Given the description of an element on the screen output the (x, y) to click on. 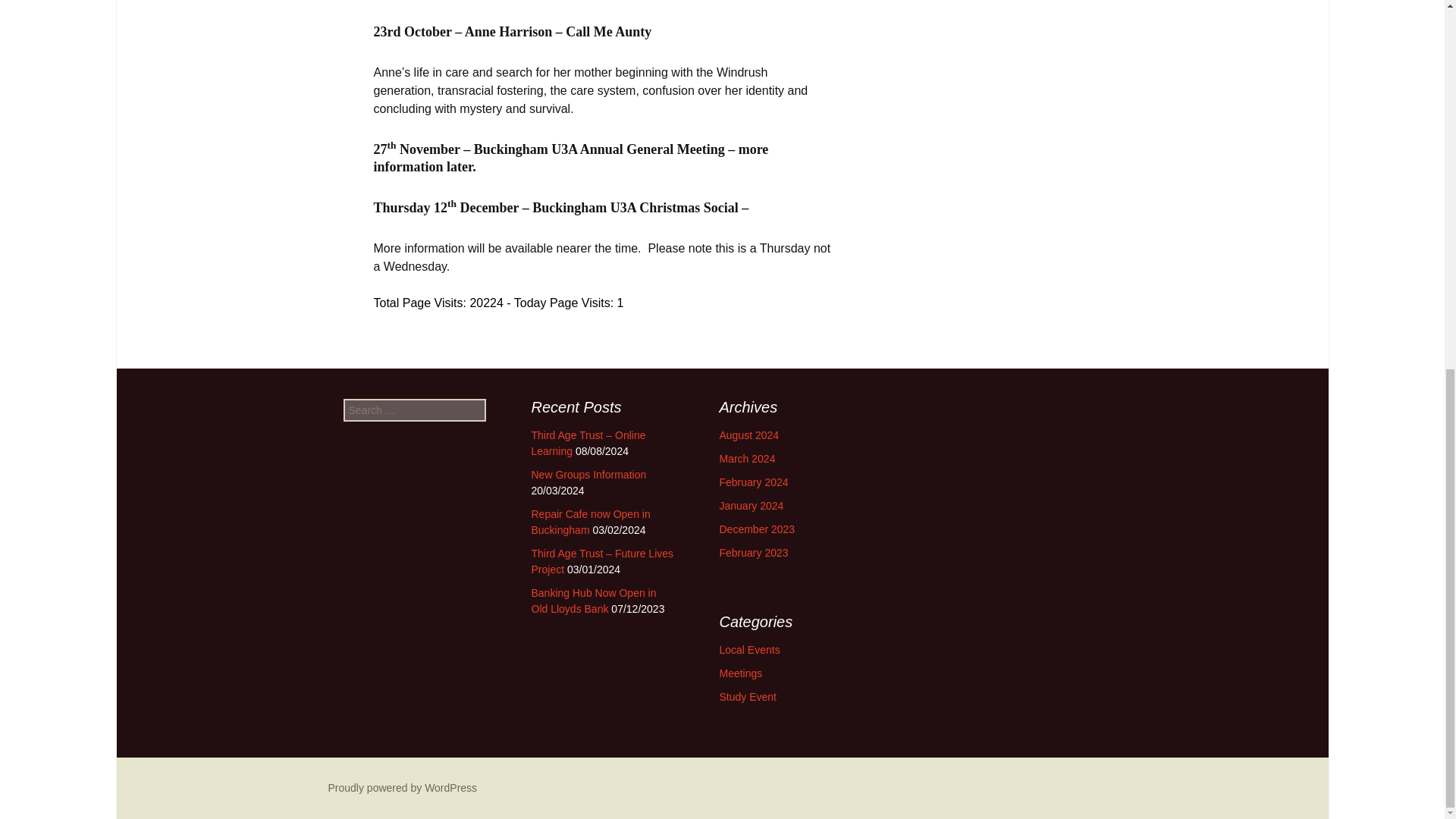
January 2024 (751, 505)
New Groups Information (588, 474)
Banking Hub Now Open in Old Lloyds Bank (593, 601)
February 2024 (753, 481)
December 2023 (756, 529)
March 2024 (746, 458)
Repair Cafe now Open in Buckingham (590, 521)
August 2024 (748, 435)
